Given the description of an element on the screen output the (x, y) to click on. 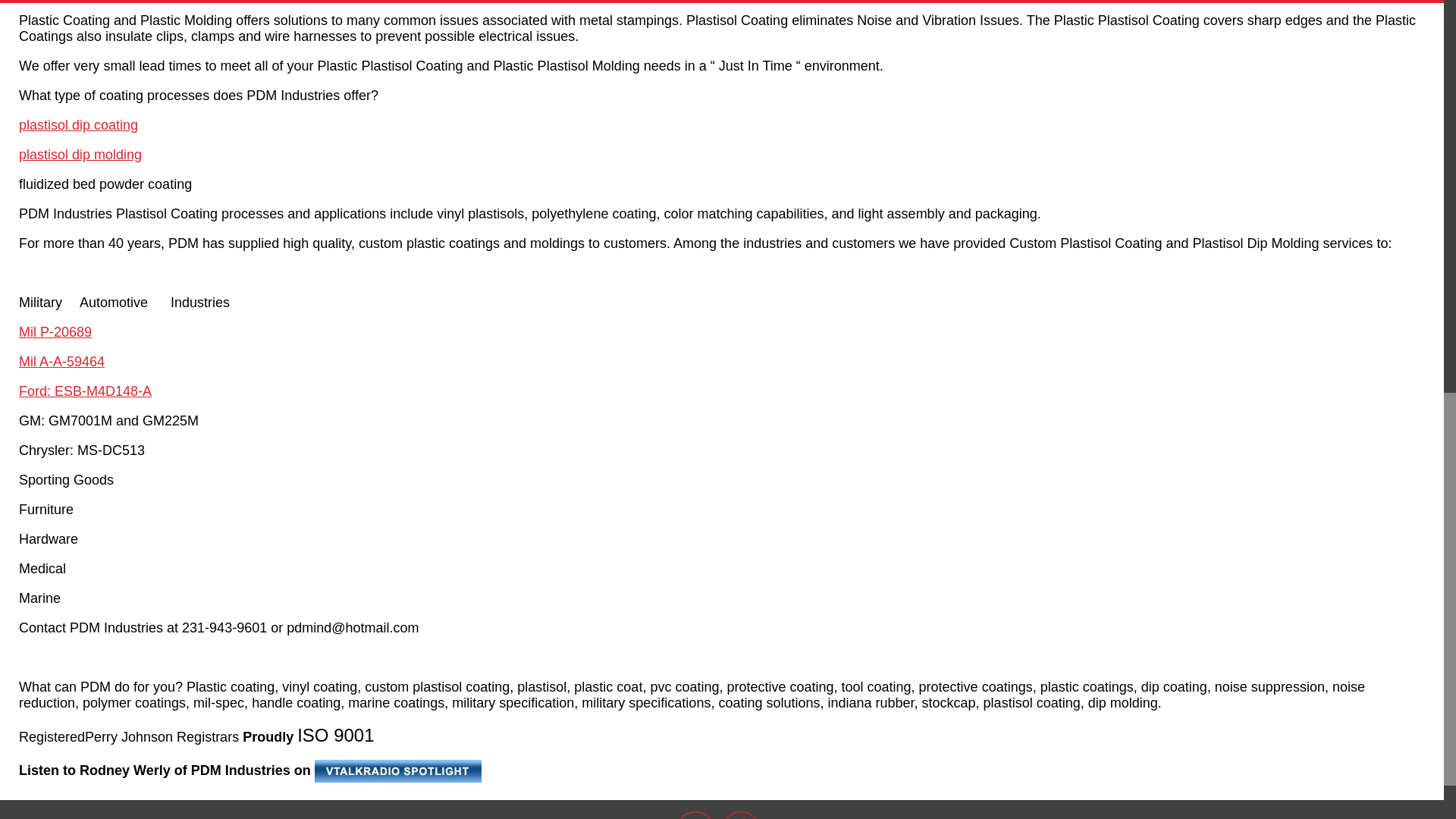
plastisol dip molding (79, 154)
plastisol dip coating (78, 124)
Mil A-A-59464 (61, 361)
Ford: ESB-M4D148-A (84, 391)
Mil P-20689 (54, 331)
